Given the description of an element on the screen output the (x, y) to click on. 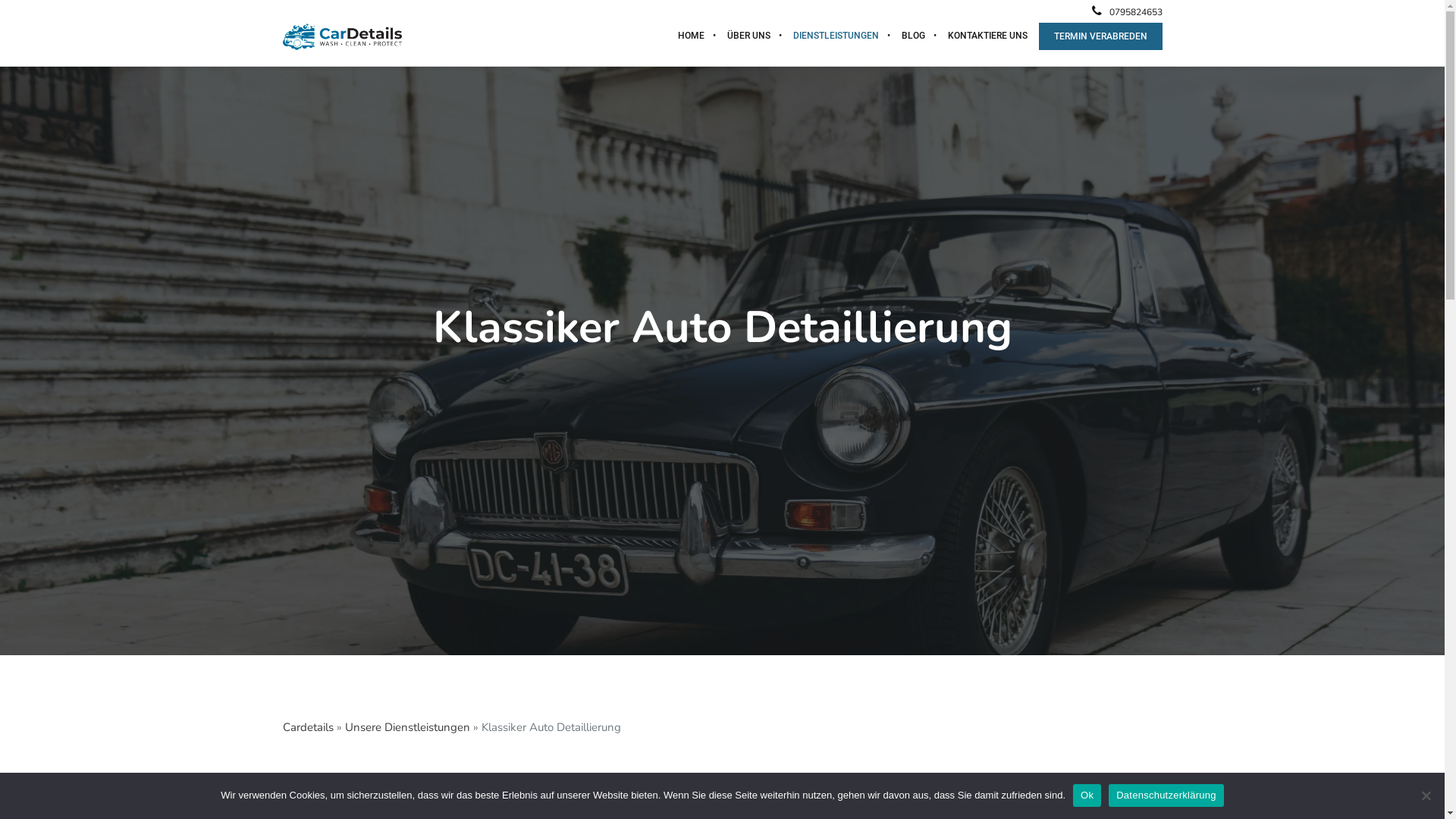
Ablehnen Element type: hover (1425, 795)
HOME Element type: text (690, 35)
Unsere Dienstleistungen Element type: text (406, 726)
TERMIN VERABREDEN Element type: text (1100, 35)
BLOG Element type: text (913, 35)
KONTAKTIERE UNS Element type: text (986, 35)
Cardetails Element type: text (307, 726)
Ok Element type: text (1087, 795)
DIENSTLEISTUNGEN Element type: text (835, 35)
